Given the description of an element on the screen output the (x, y) to click on. 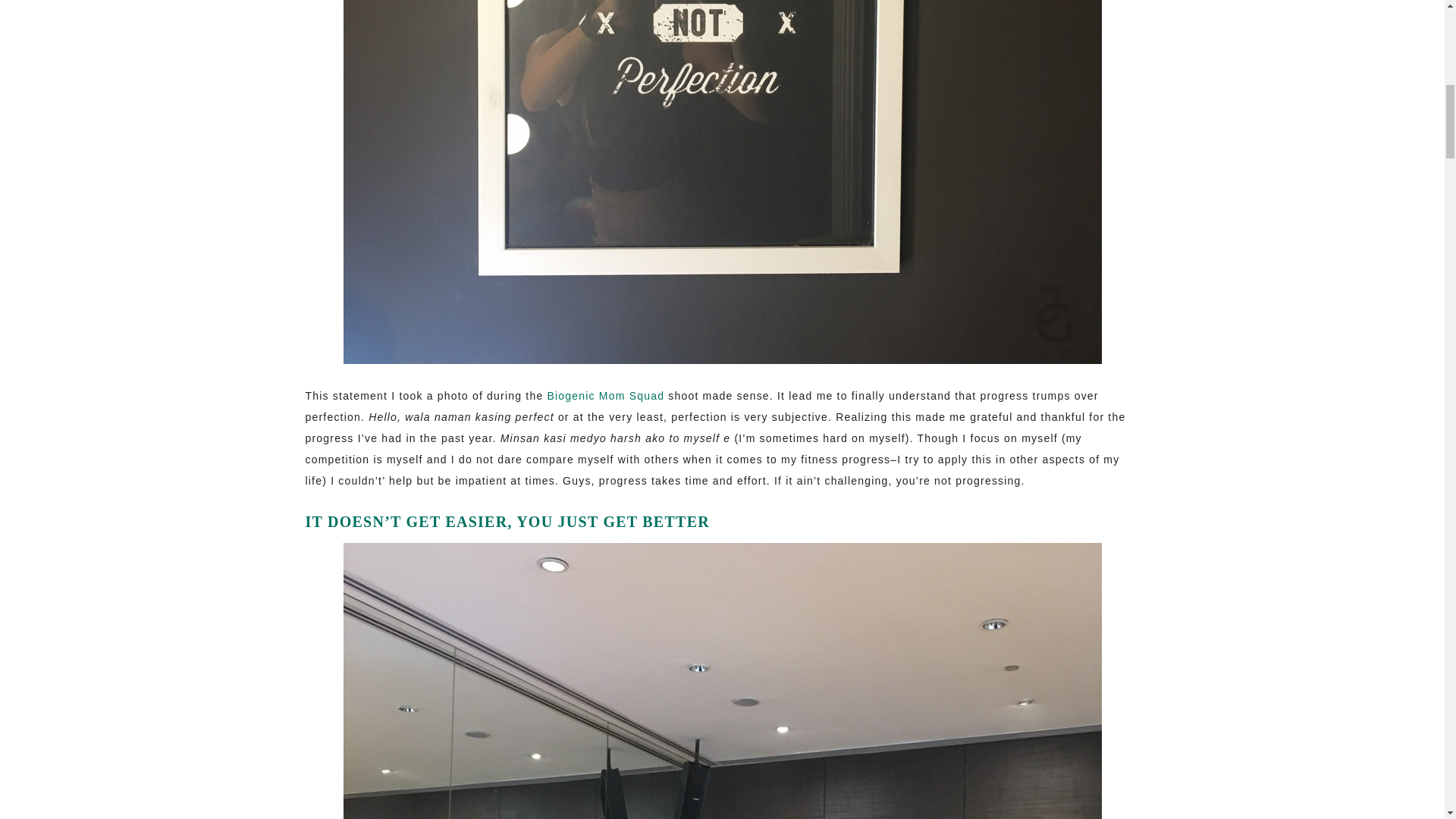
Biogenic Mom Squad (605, 395)
